Given the description of an element on the screen output the (x, y) to click on. 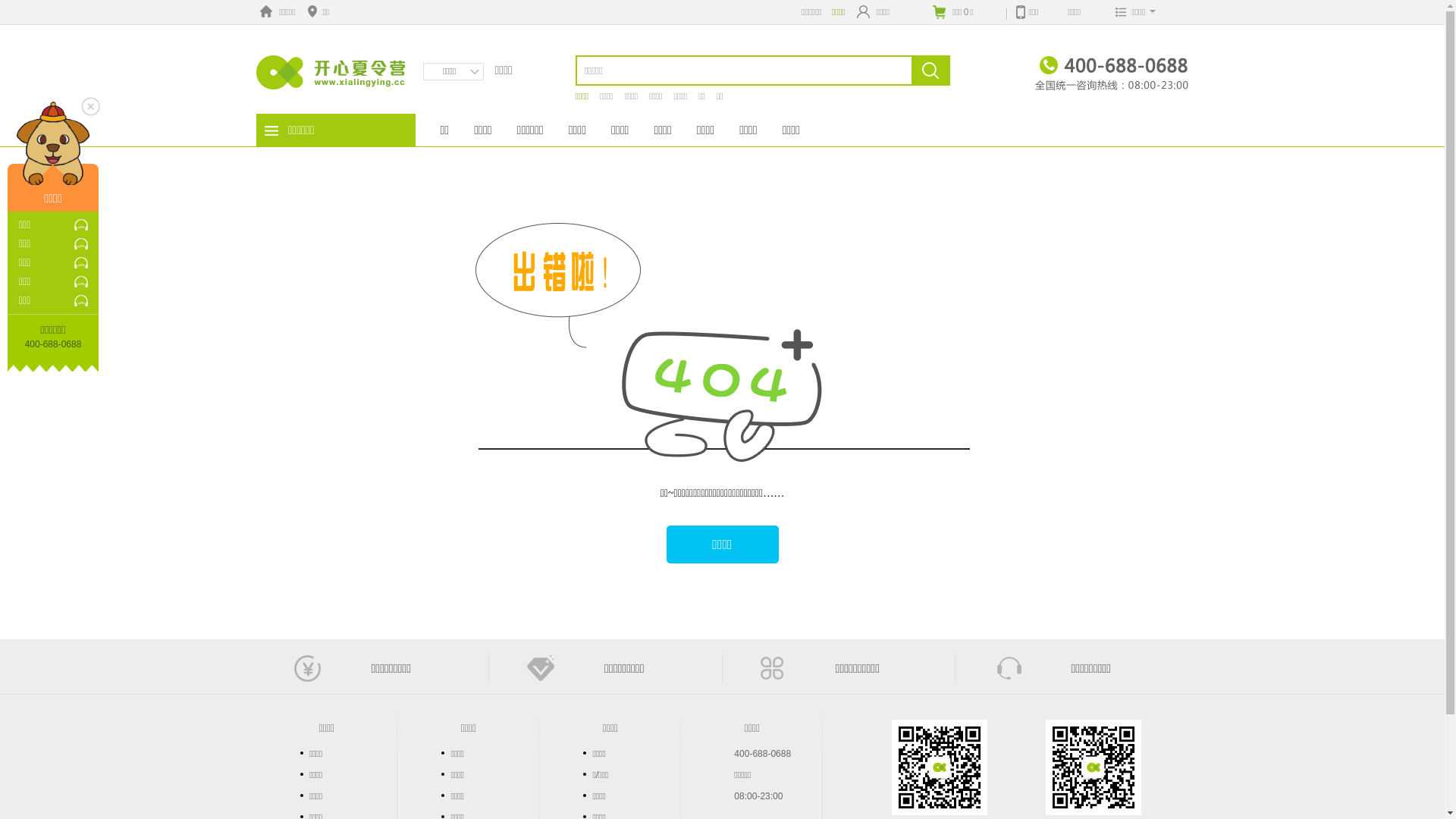
400-688-0688 Element type: text (762, 753)
08:00-23:00 Element type: text (758, 795)
